Given the description of an element on the screen output the (x, y) to click on. 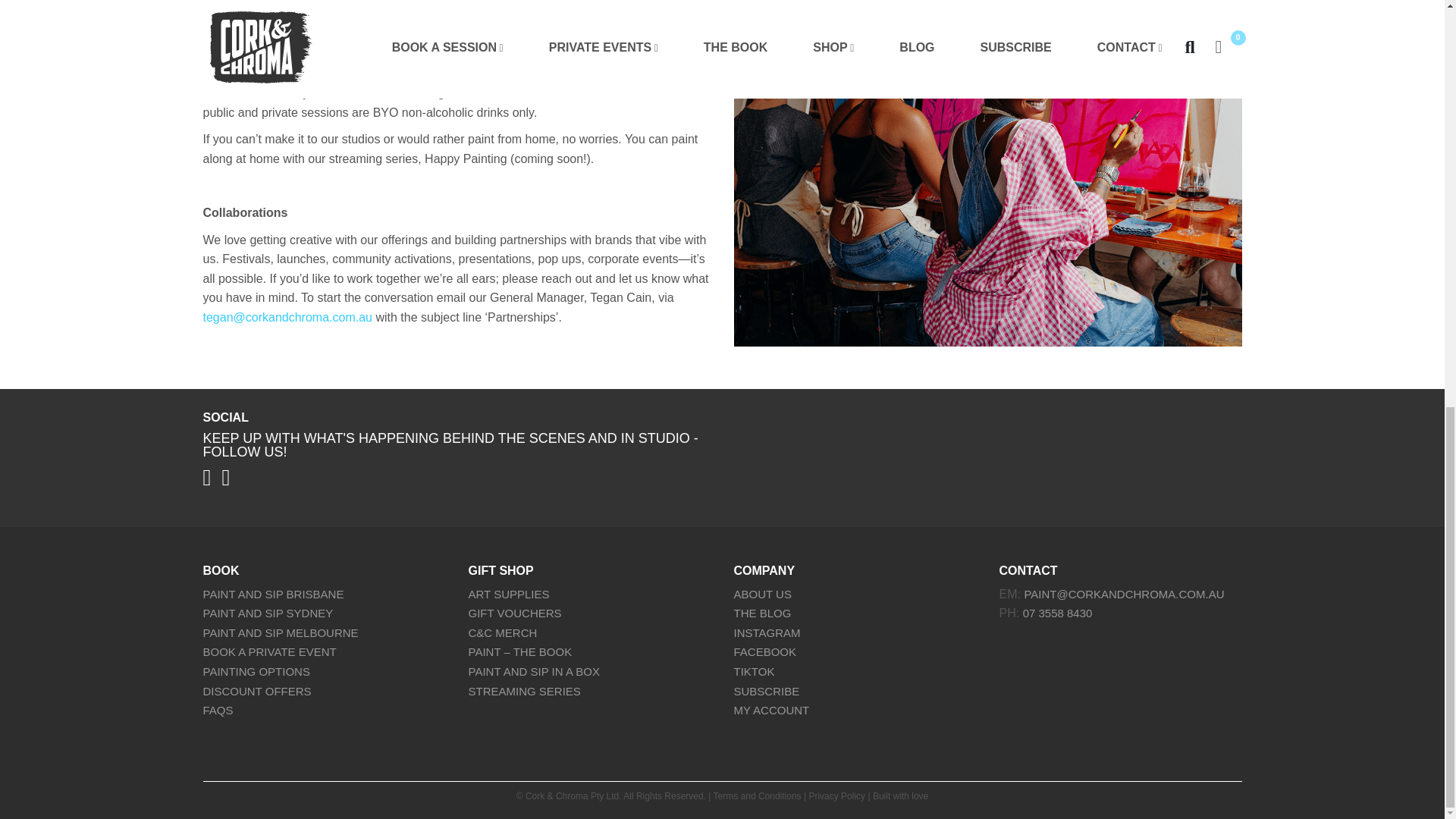
Sydney Website Designers (900, 796)
Calendar (390, 65)
Private Event (274, 65)
